Given the description of an element on the screen output the (x, y) to click on. 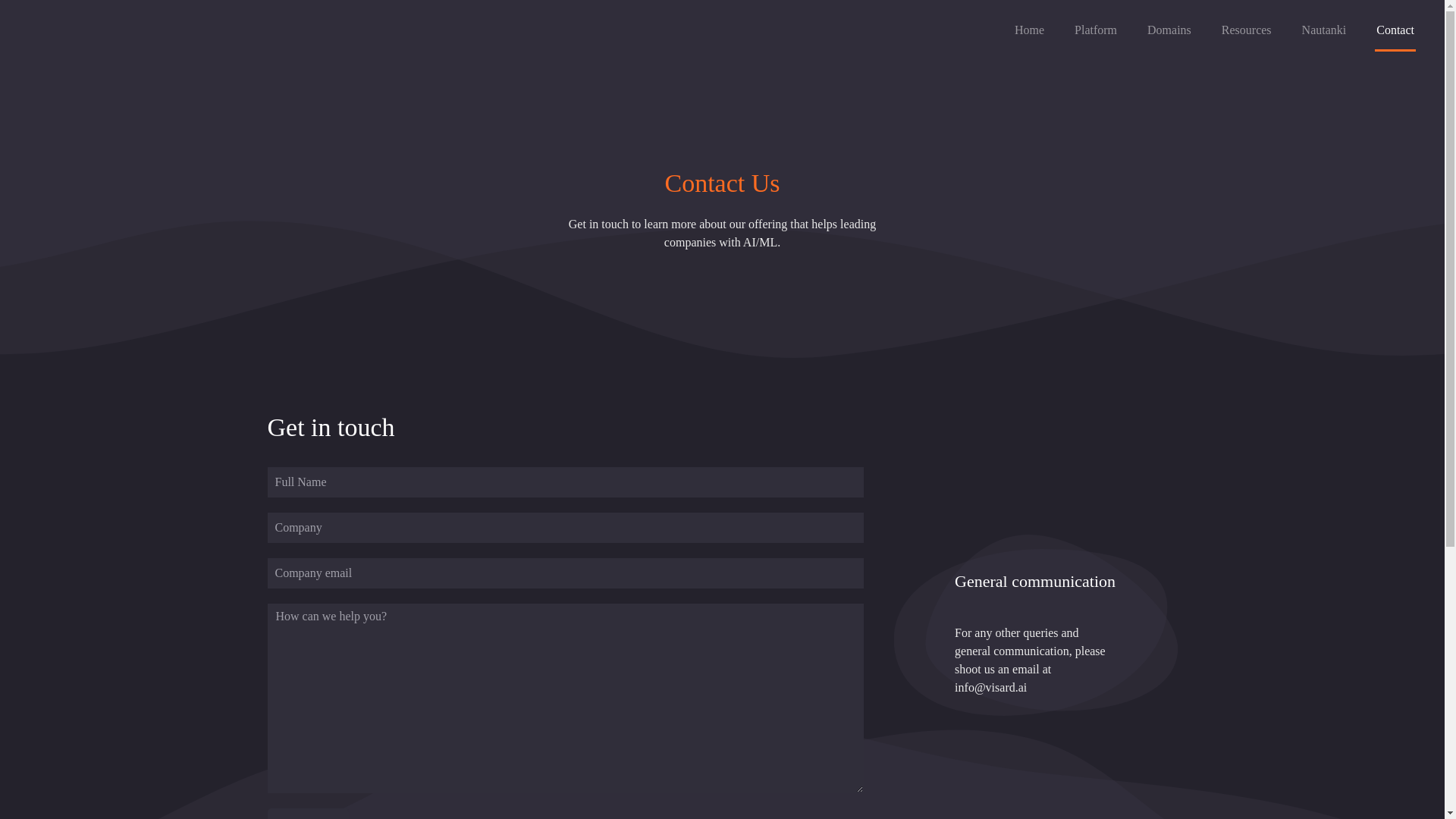
Resources (1247, 30)
Domains (1169, 30)
Contact (1395, 30)
Submit (306, 813)
Nautanki (1324, 30)
Home (1028, 30)
Platform (1095, 30)
